Given the description of an element on the screen output the (x, y) to click on. 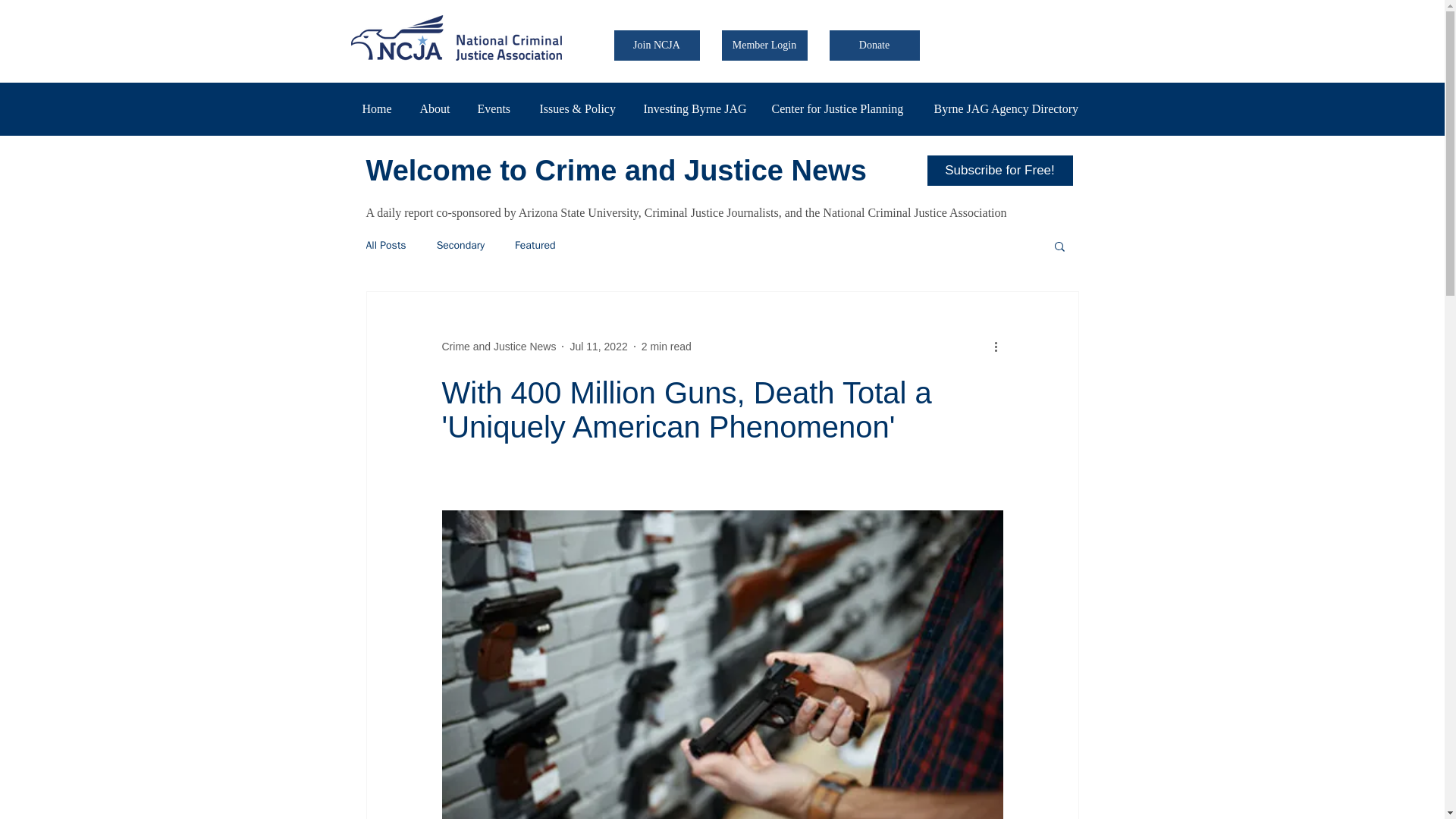
About (436, 108)
Events (496, 108)
Jul 11, 2022 (598, 346)
Center for Justice Planning (840, 108)
Home (378, 108)
2 min read (666, 346)
Investing Byrne JAG (695, 108)
Join NCJA (657, 45)
Crime and Justice News (498, 346)
Member Login (765, 45)
Donate (874, 45)
